Given the description of an element on the screen output the (x, y) to click on. 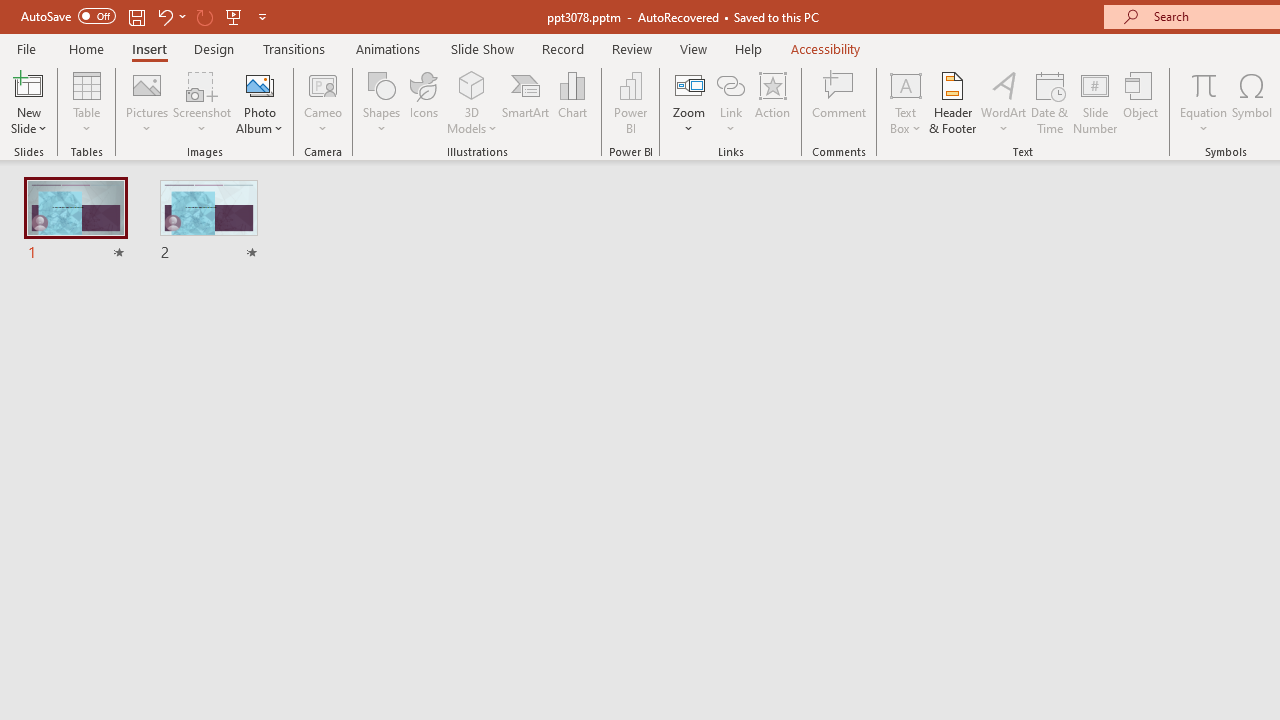
Date & Time... (1050, 102)
SmartArt... (525, 102)
Symbol... (1252, 102)
Draw Horizontal Text Box (905, 84)
Screenshot (202, 102)
